Given the description of an element on the screen output the (x, y) to click on. 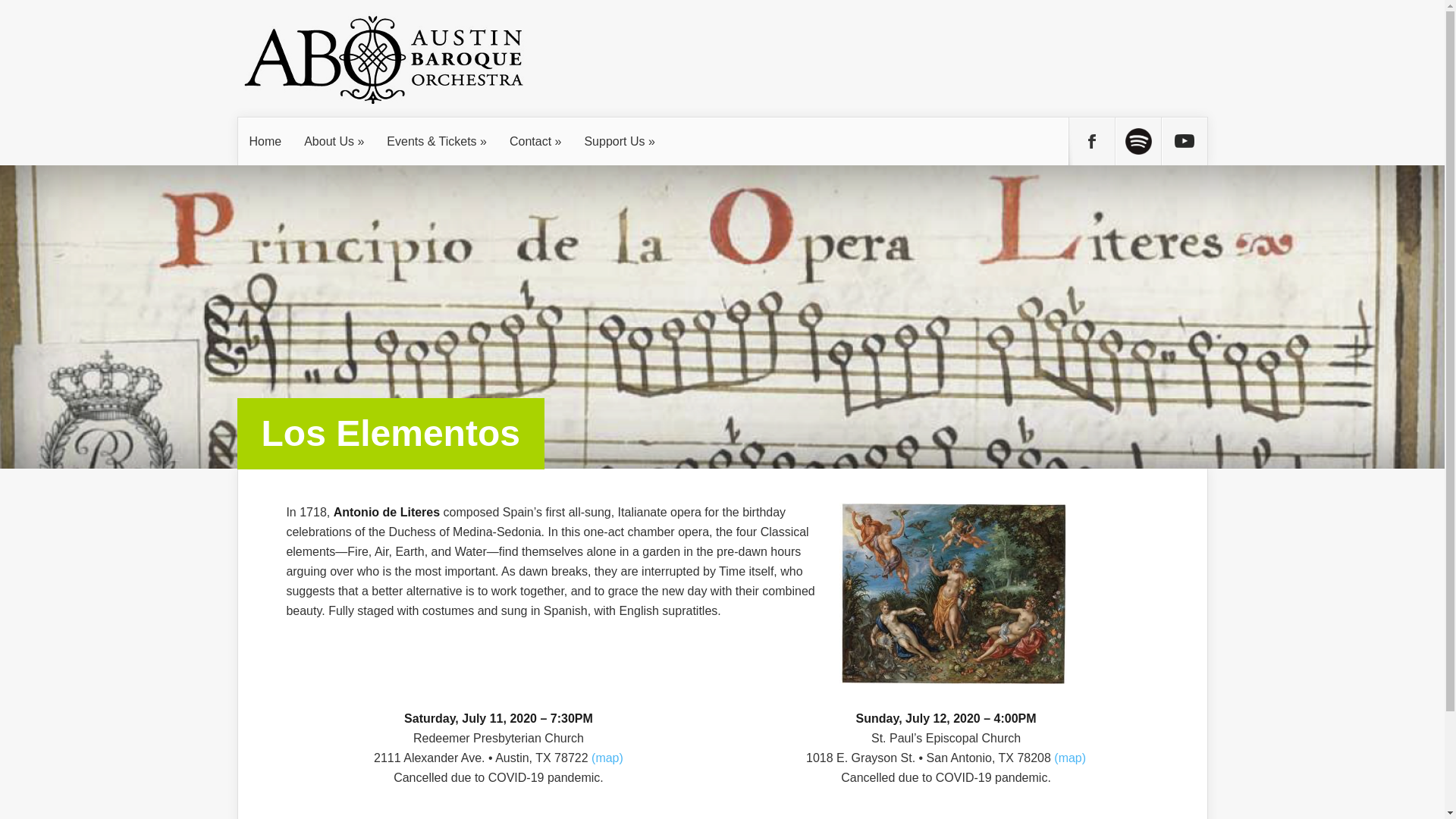
Home (266, 141)
About Us (333, 141)
